Given the description of an element on the screen output the (x, y) to click on. 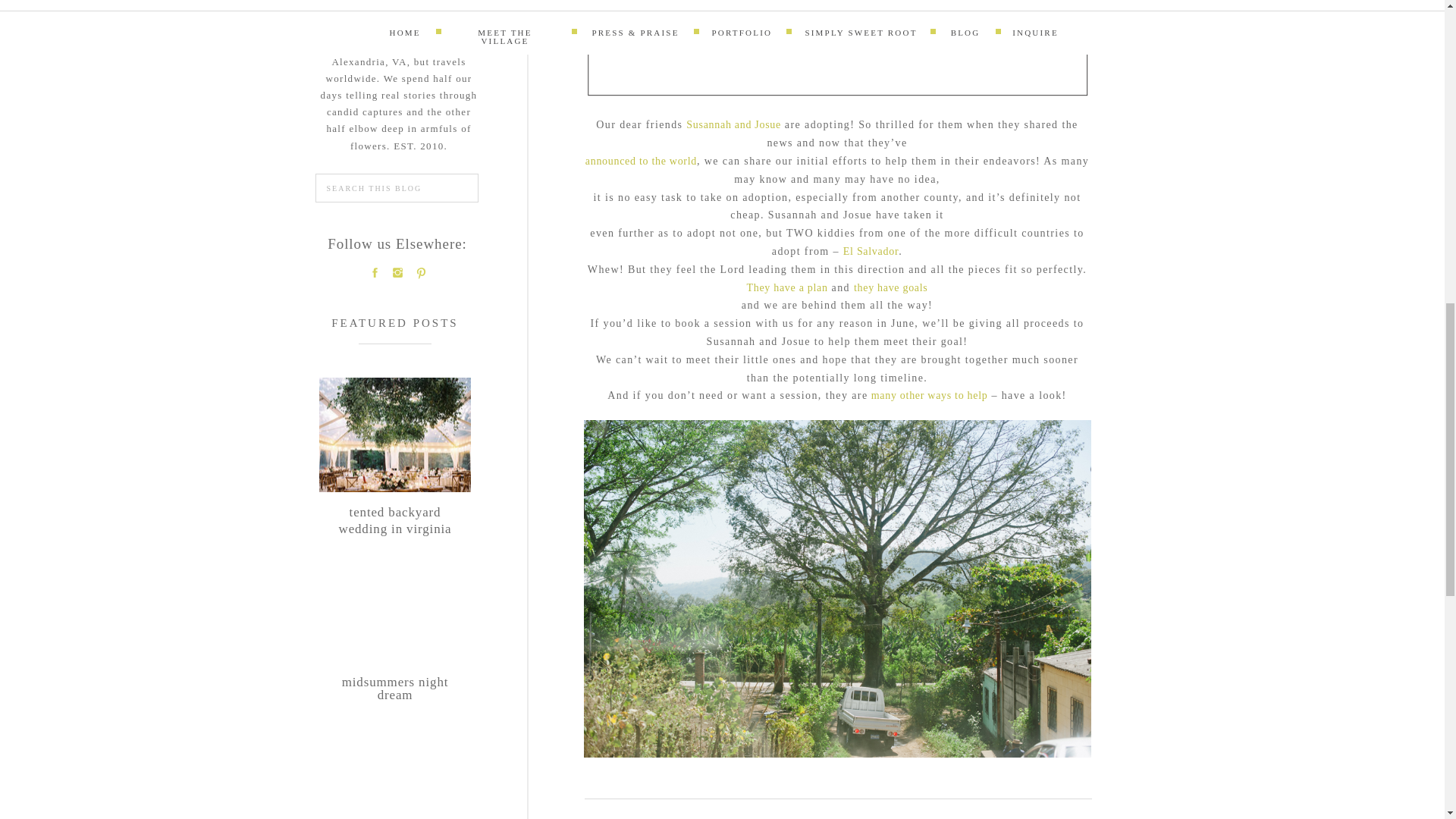
Susannah and Josue (395, 519)
El Salvador (732, 124)
midsummers night dream (870, 251)
They have a plan (395, 697)
announced to the world (786, 287)
they have goals (641, 161)
many other ways to help (890, 287)
